Given the description of an element on the screen output the (x, y) to click on. 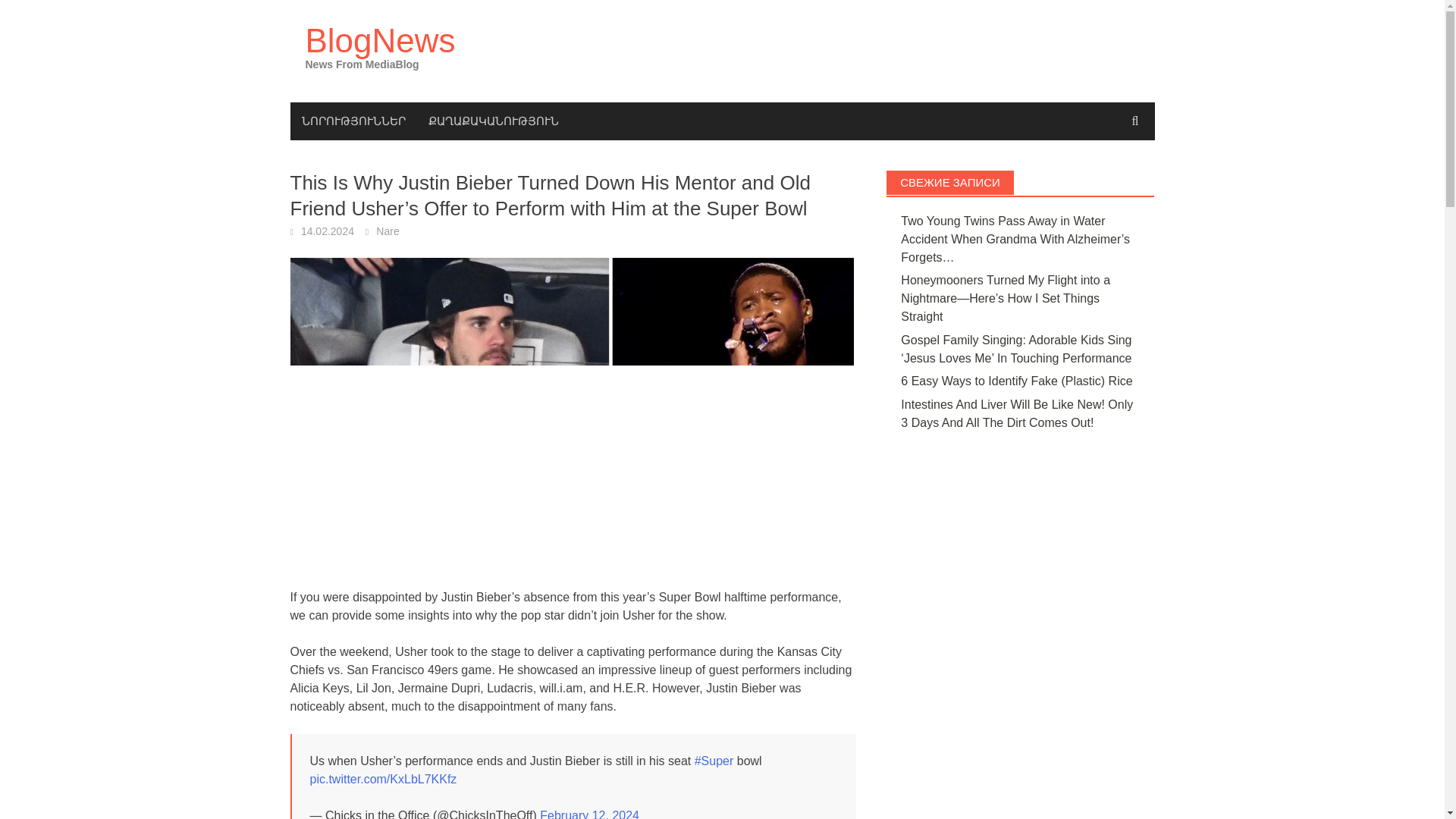
BlogNews (379, 40)
Nare (386, 231)
February 12, 2024 (589, 814)
14.02.2024 (327, 231)
